Given the description of an element on the screen output the (x, y) to click on. 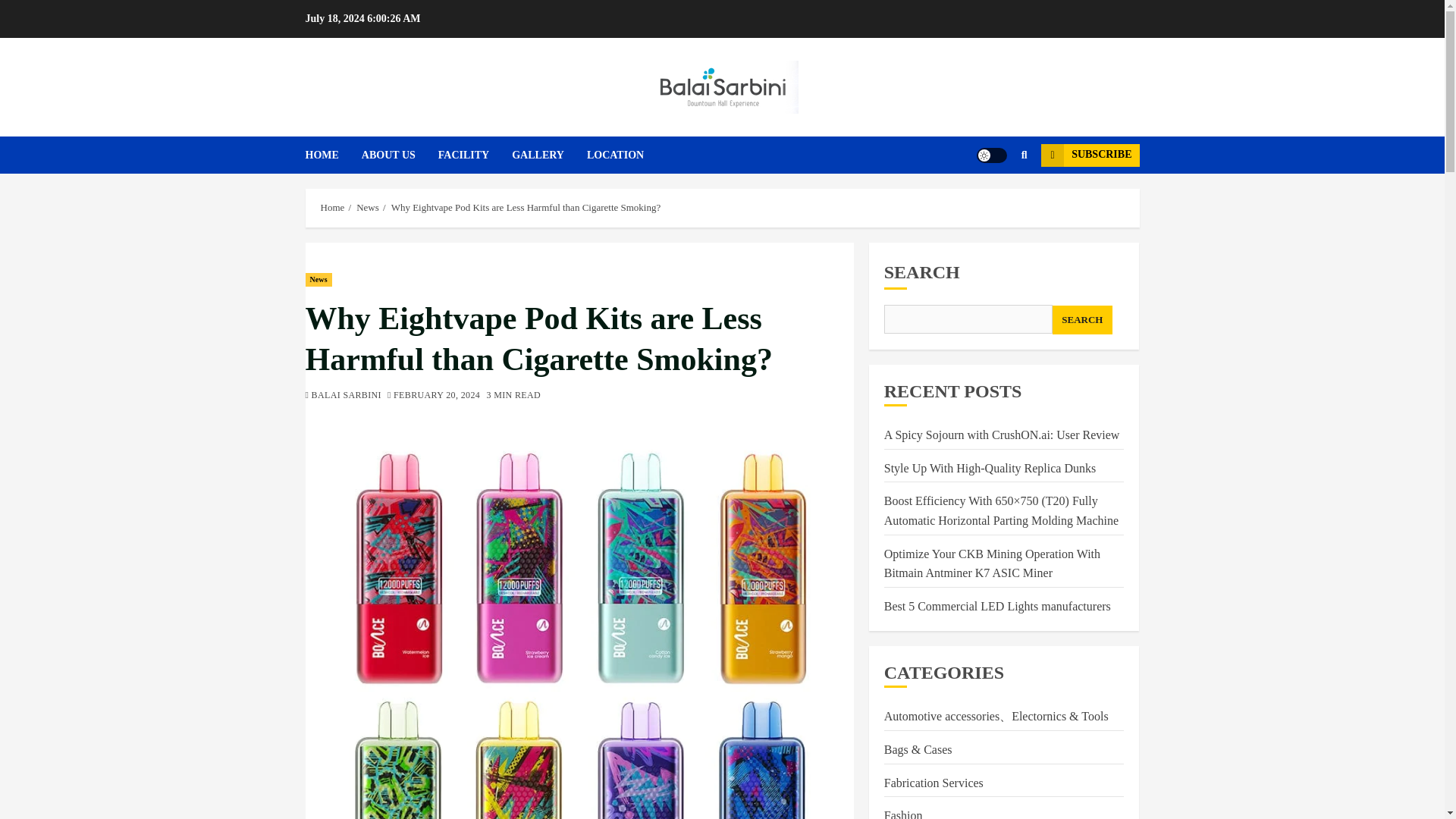
Search (1023, 154)
Fashion (903, 814)
SUBSCRIBE (1089, 155)
News (317, 279)
SEARCH (1082, 319)
HOME (332, 154)
Fabrication Services (933, 783)
Search (994, 200)
FACILITY (475, 154)
Home (331, 207)
A Spicy Sojourn with CrushON.ai: User Review (1001, 435)
ABOUT US (399, 154)
Style Up With High-Quality Replica Dunks (989, 468)
News (367, 207)
